Given the description of an element on the screen output the (x, y) to click on. 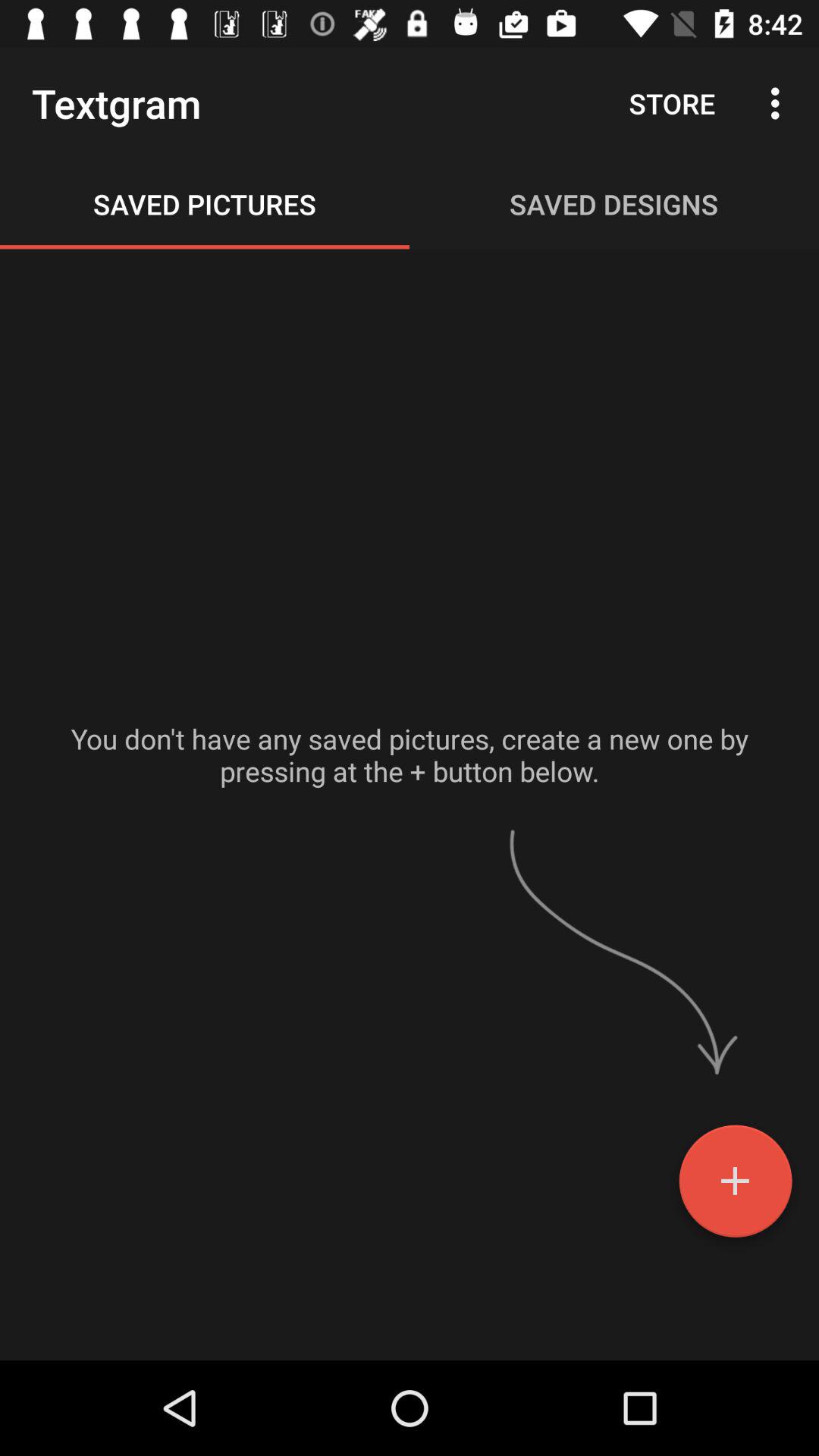
press the icon above the saved designs (672, 103)
